Given the description of an element on the screen output the (x, y) to click on. 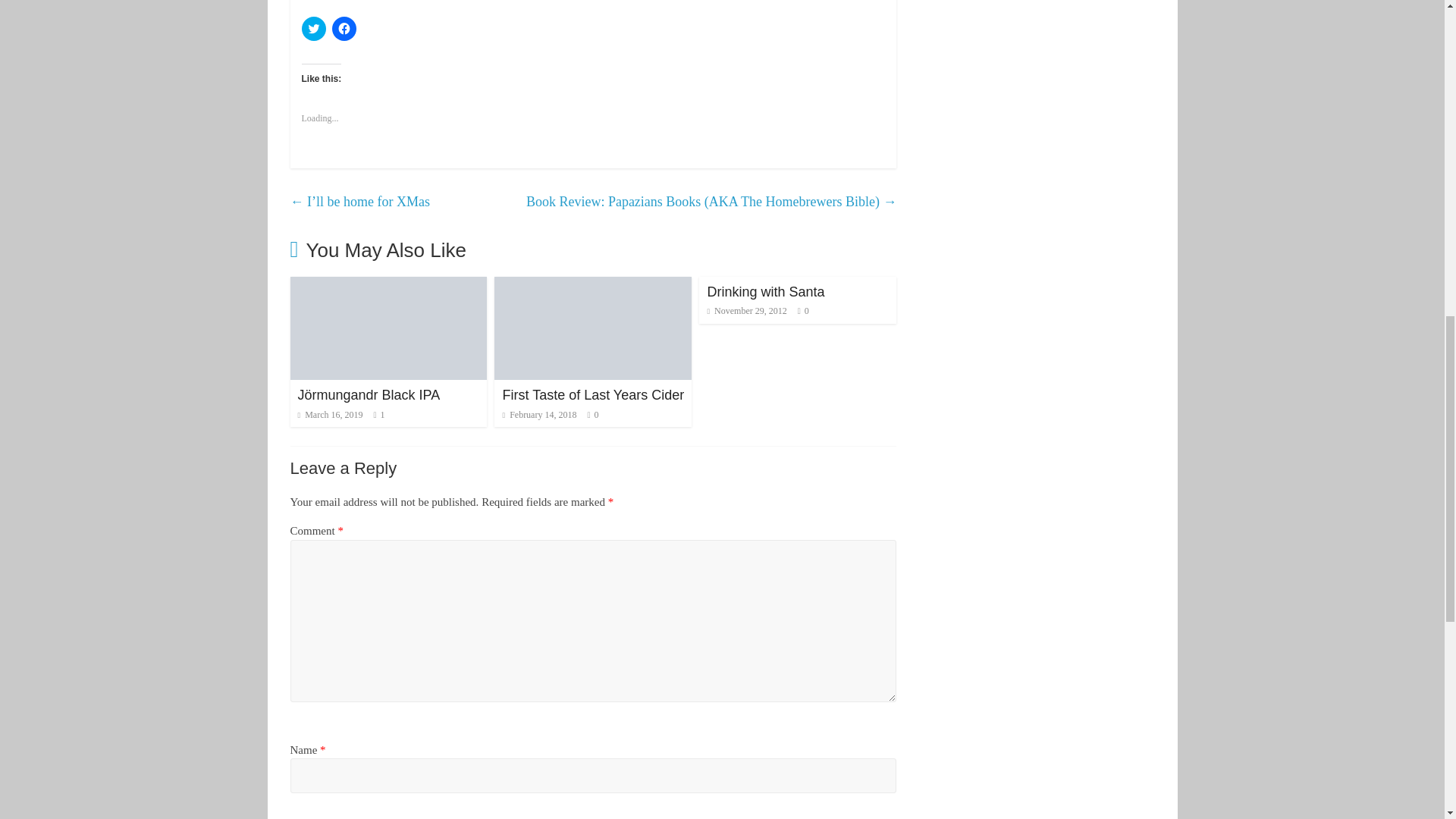
First Taste of Last Years Cider (593, 394)
First Taste of Last Years Cider (593, 286)
Click to share on Twitter (313, 28)
9:41 PM (329, 414)
5:21 PM (539, 414)
Click to share on Facebook (343, 28)
